Given the description of an element on the screen output the (x, y) to click on. 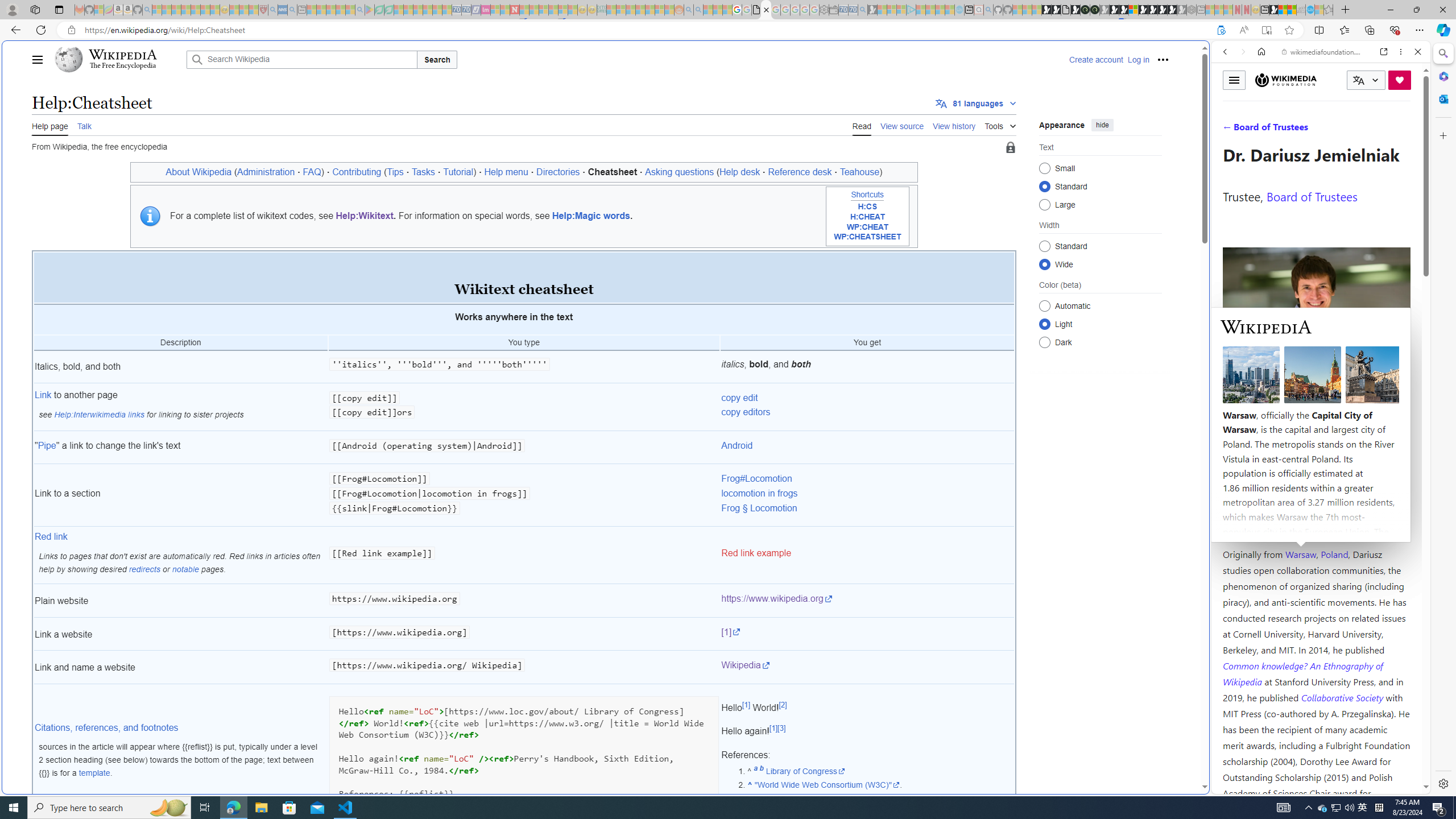
[2] (782, 704)
Close split screen (1208, 57)
Contributing (356, 172)
Help:Wikitext (363, 216)
Earth has six continents not seven, radical new study claims (1291, 9)
copy edit copy editors (866, 406)
